Given the description of an element on the screen output the (x, y) to click on. 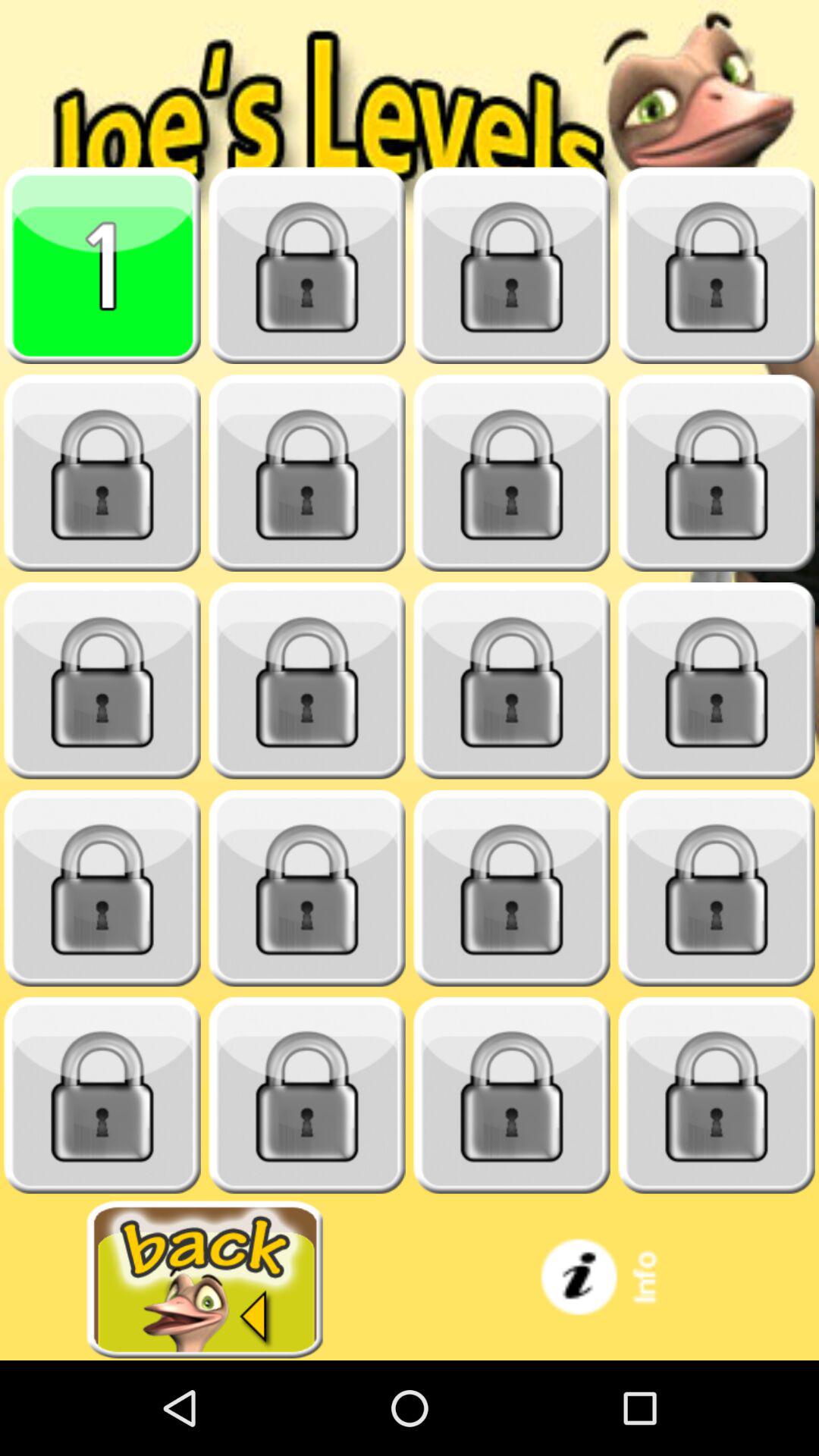
play chosen level (102, 265)
